Given the description of an element on the screen output the (x, y) to click on. 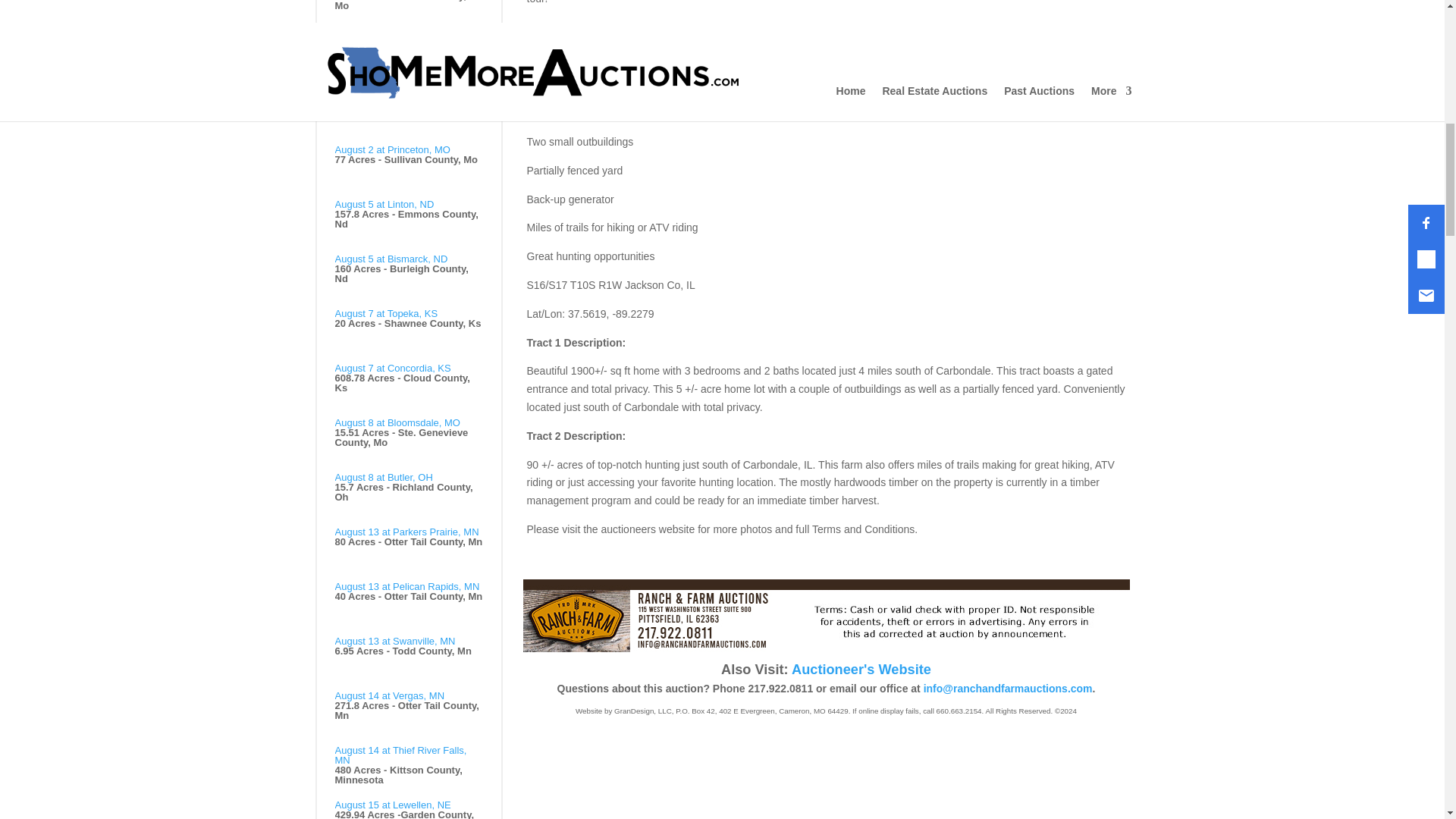
Auctioneer's Website (861, 669)
August 5 at Bismarck, ND (391, 258)
August 7 at Topeka, KS (386, 313)
August 5 at Linton, ND (383, 204)
August 2 at Princeton, MO (391, 40)
August 2 at Princeton, MO (391, 149)
August 2 at Princeton, MO (391, 94)
August 8 at Bloomsdale, MO (397, 422)
August 7 at Concordia, KS (392, 367)
